Given the description of an element on the screen output the (x, y) to click on. 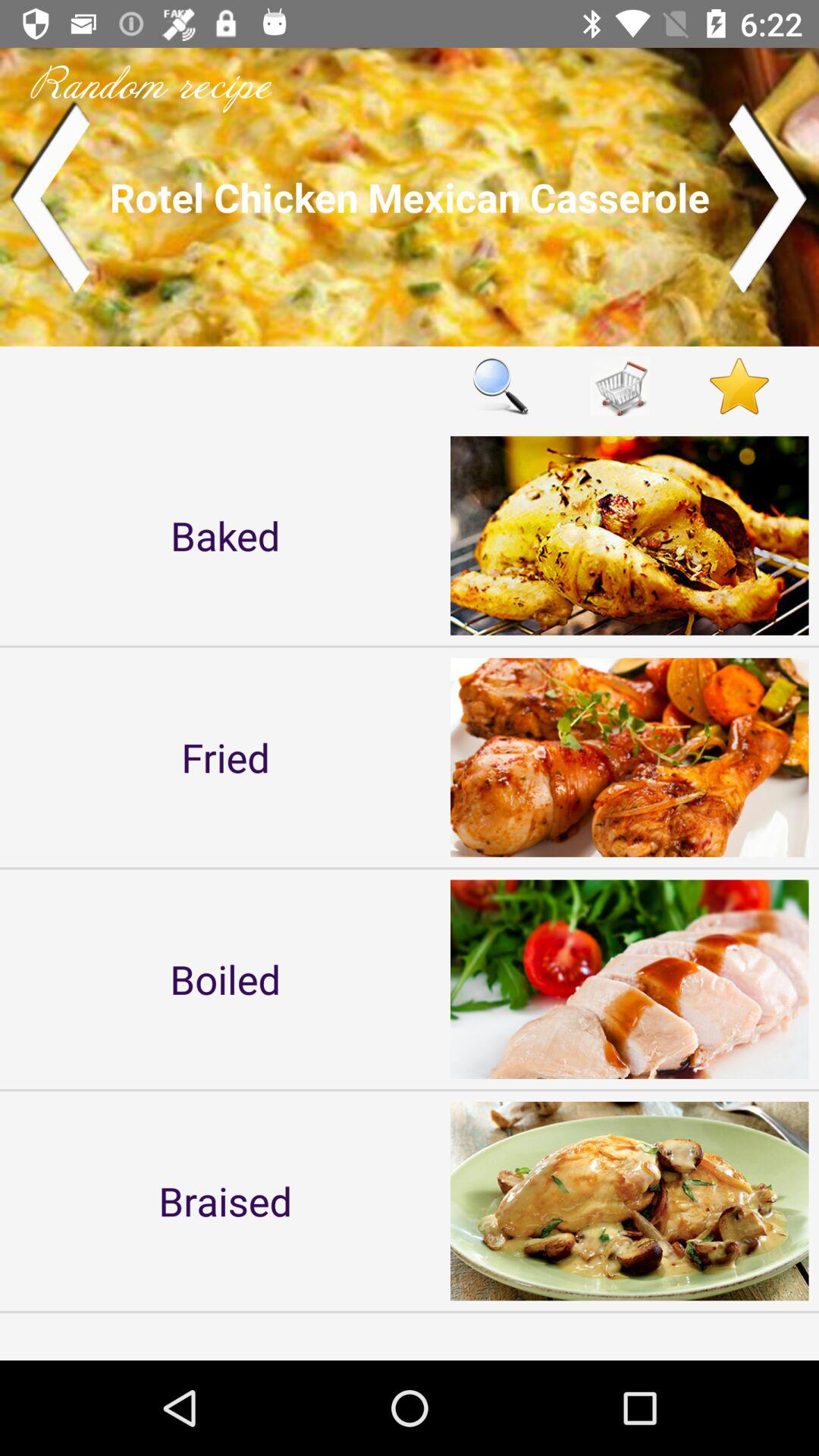
cart (619, 385)
